Given the description of an element on the screen output the (x, y) to click on. 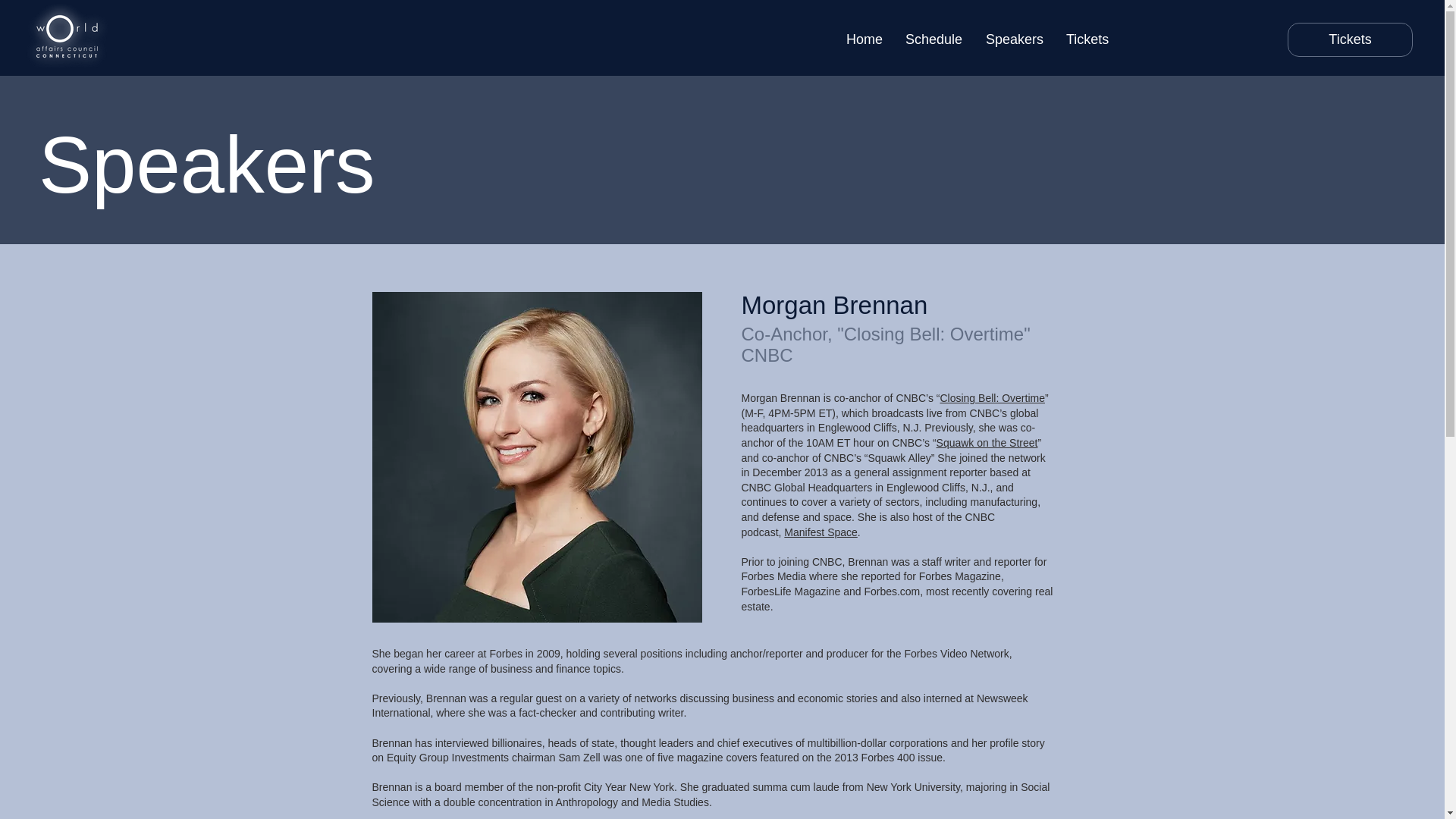
Tickets (1087, 39)
Schedule (933, 39)
Speakers (1014, 39)
Tickets (1349, 39)
Squawk on the Street (987, 442)
Closing Bell: Overtime (992, 398)
Manifest Space (820, 532)
Home (863, 39)
